Given the description of an element on the screen output the (x, y) to click on. 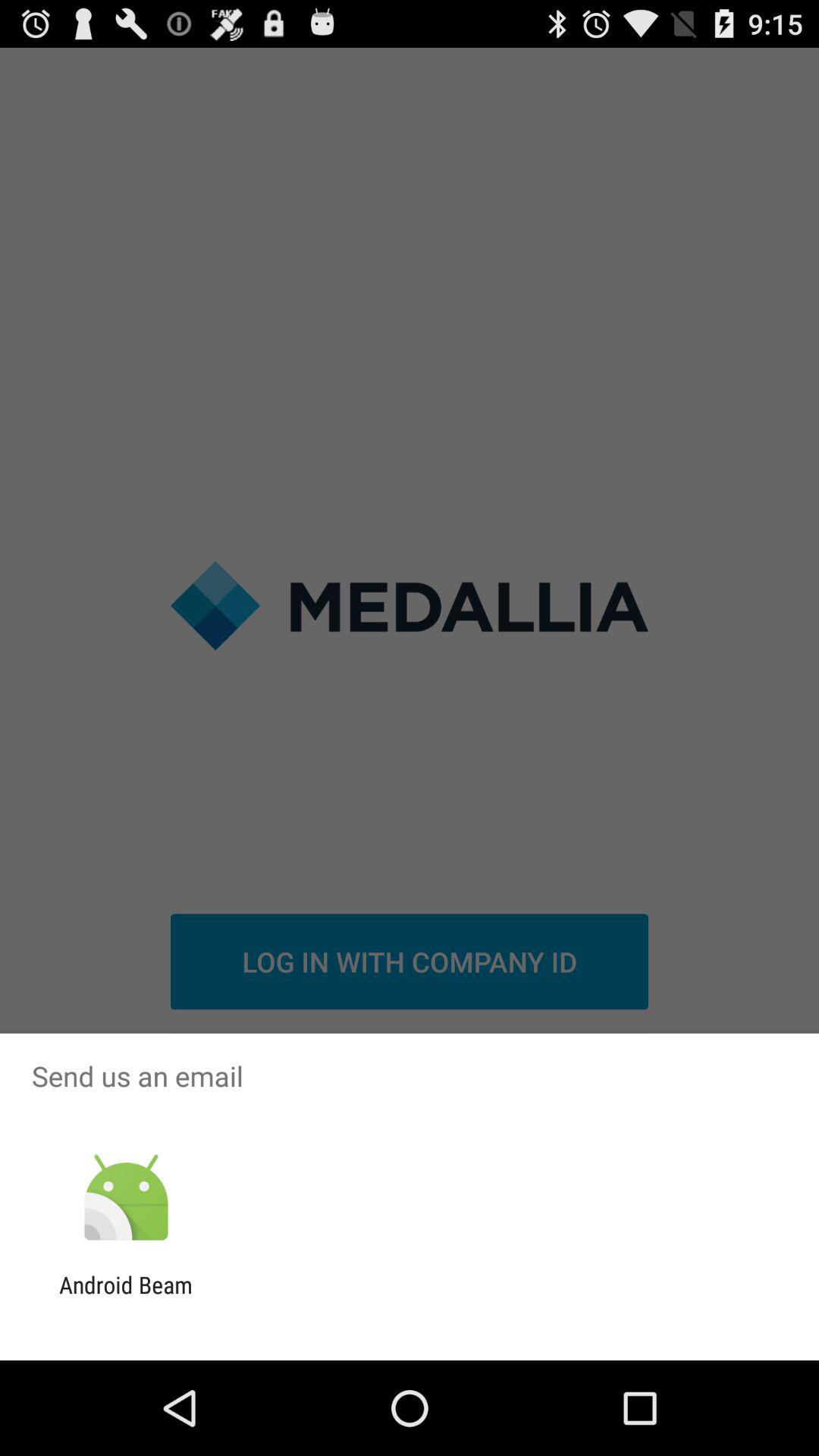
choose the icon below the send us an (126, 1198)
